Given the description of an element on the screen output the (x, y) to click on. 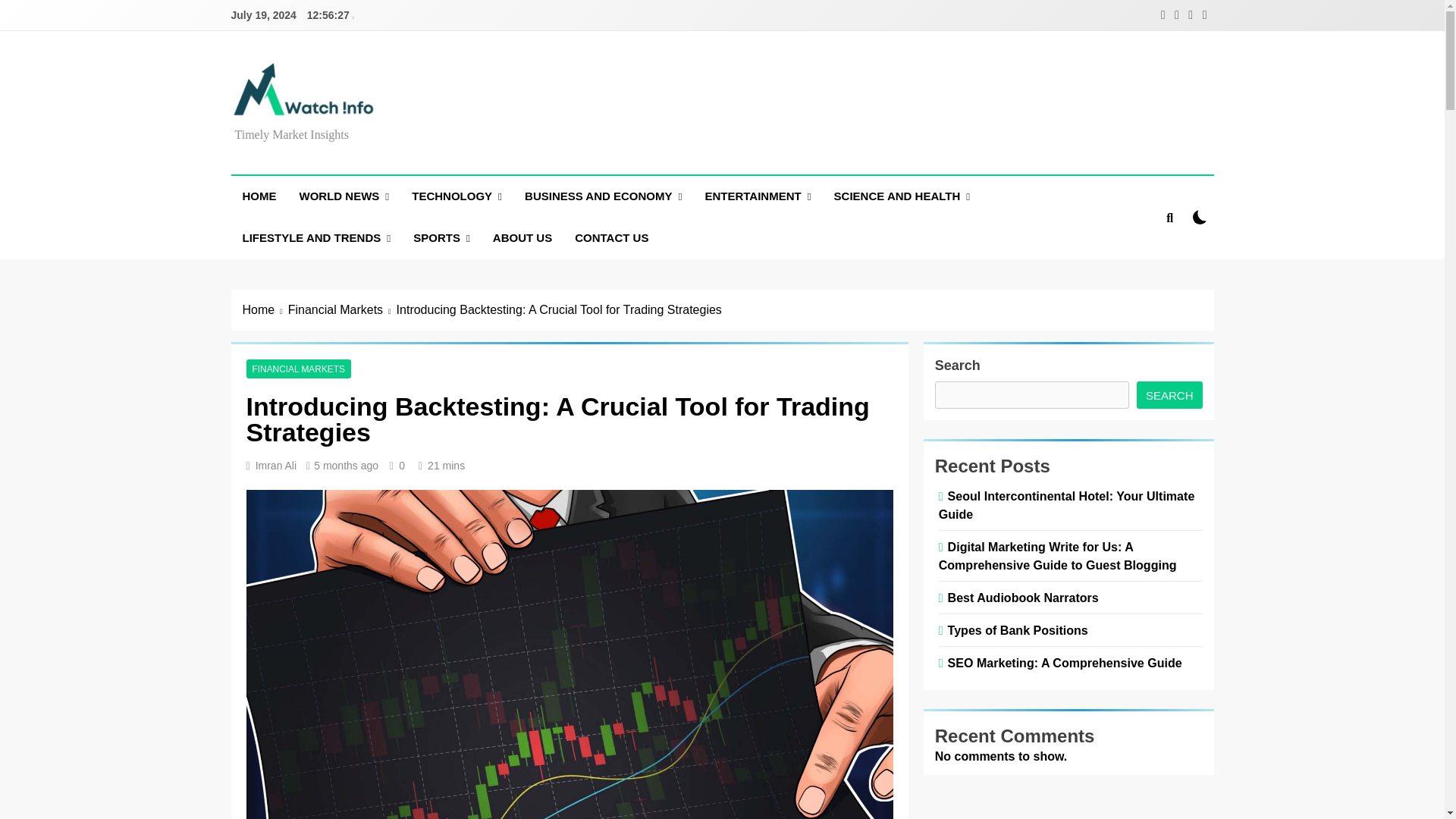
HOME (258, 196)
WORLD NEWS (344, 196)
on (1199, 216)
SCIENCE AND HEALTH (901, 196)
Market Watch Info (375, 138)
ENTERTAINMENT (757, 196)
BUSINESS AND ECONOMY (603, 196)
TECHNOLOGY (456, 196)
LIFESTYLE AND TRENDS (315, 237)
